Given the description of an element on the screen output the (x, y) to click on. 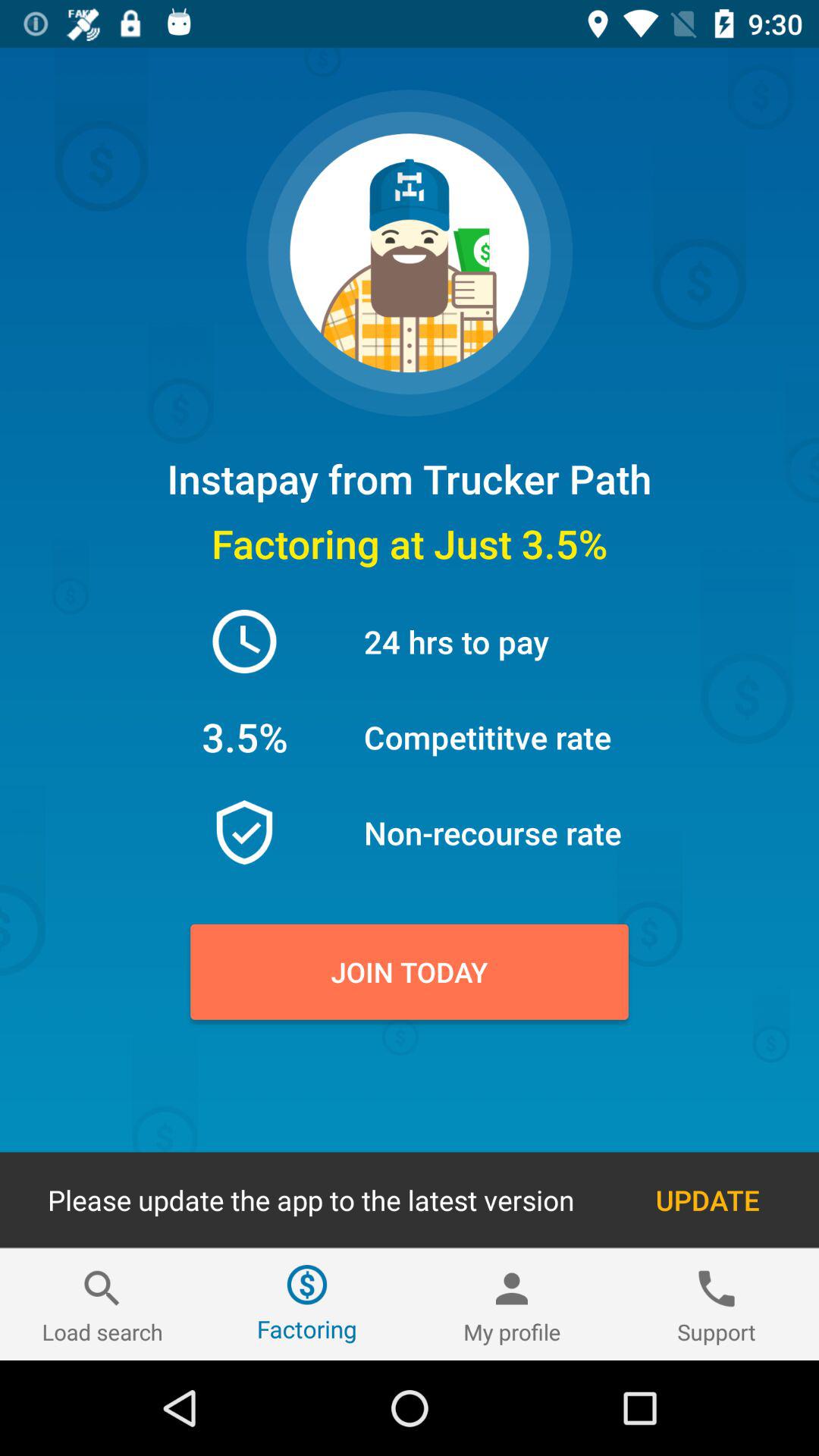
flip until the join today (409, 971)
